Given the description of an element on the screen output the (x, y) to click on. 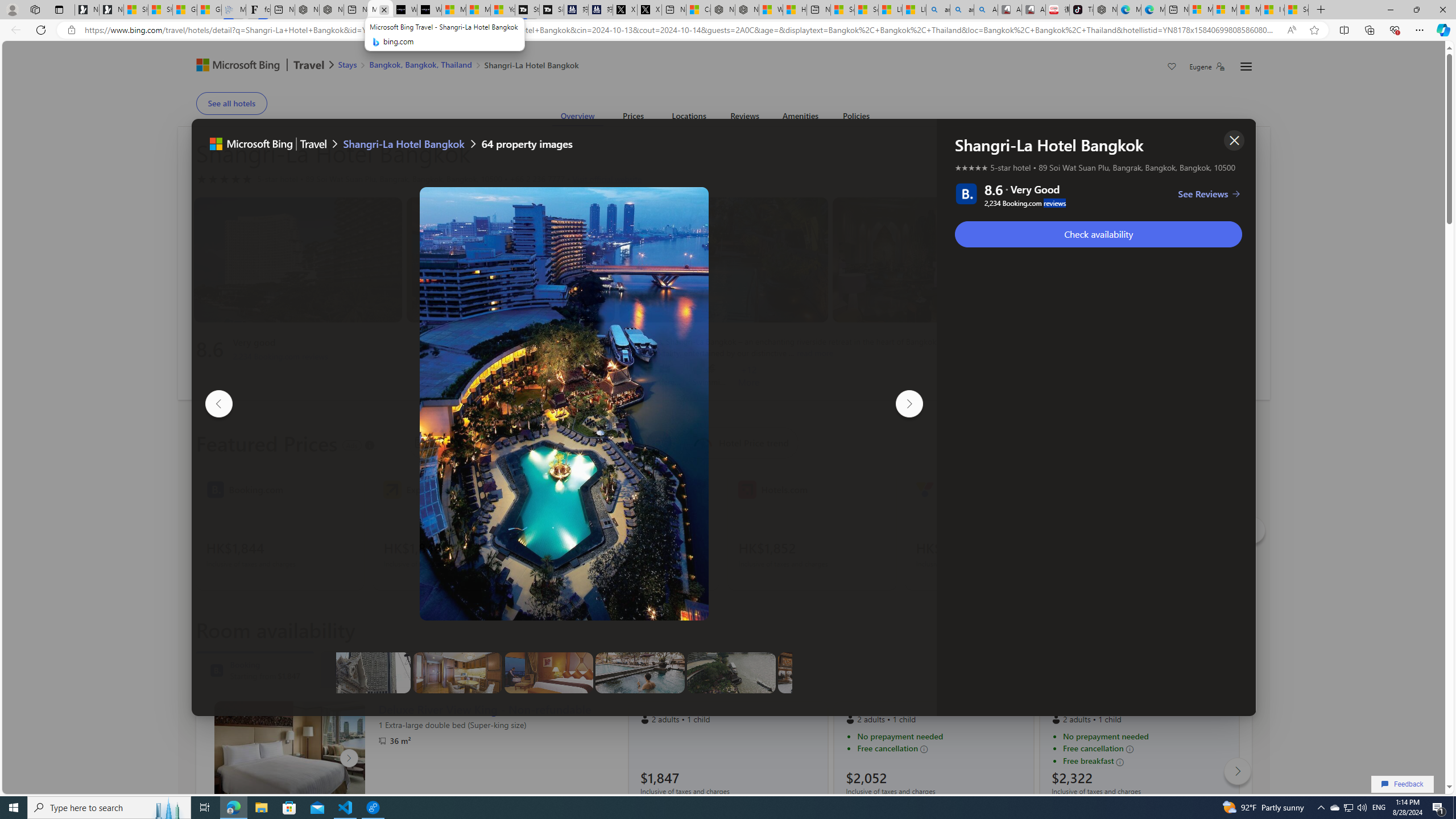
I Gained 20 Pounds of Muscle in 30 Days! | Watch (1272, 9)
All Cubot phones (1032, 9)
Microsoft account | Privacy (1224, 9)
Streaming Coverage | T3 (526, 9)
